Given the description of an element on the screen output the (x, y) to click on. 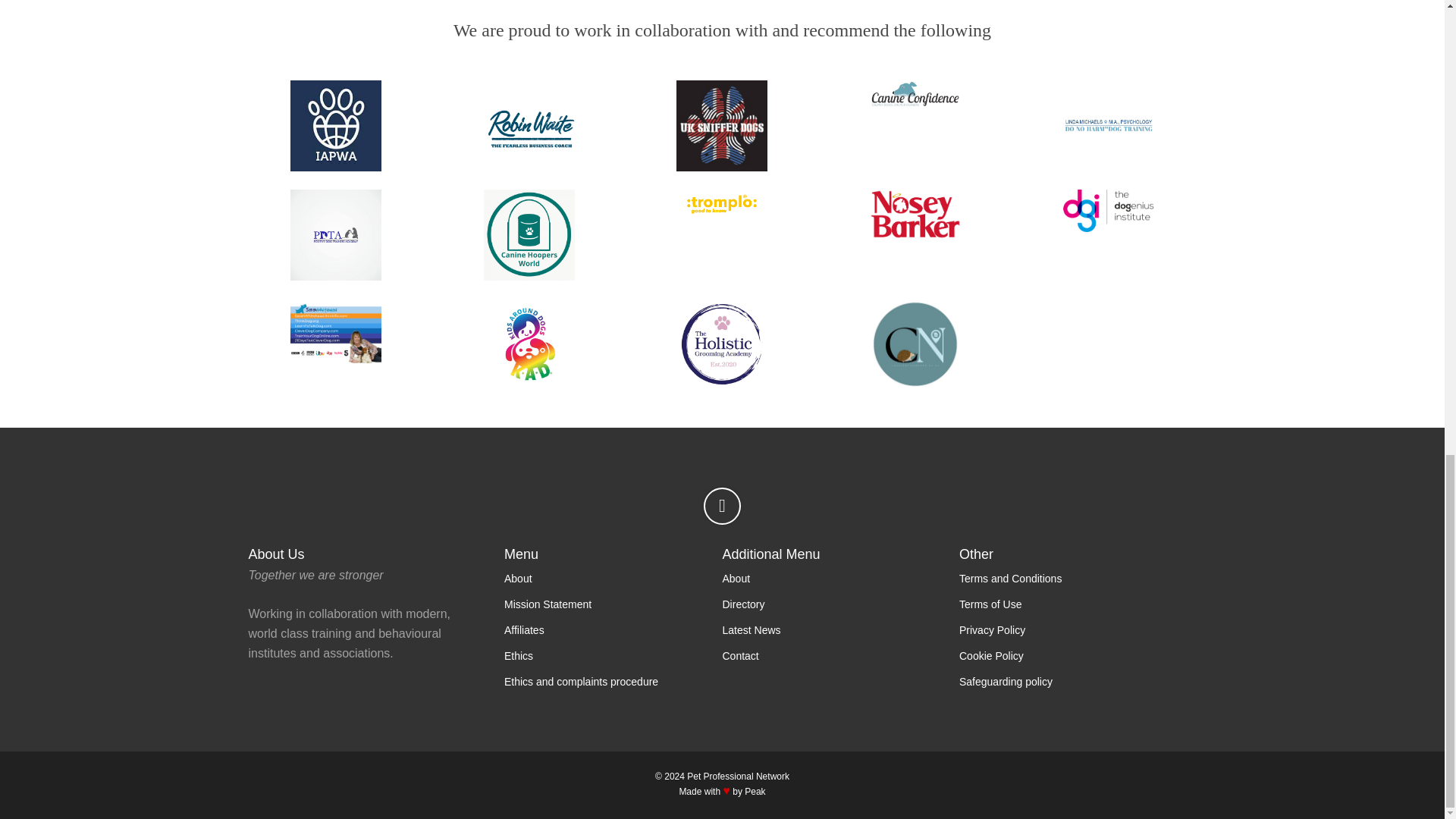
Canine Confidence (915, 93)
Privacy Policy (992, 630)
Latest News (751, 630)
Terms and Conditions (1010, 578)
Safeguarding policy (1005, 681)
Positive Dog Training Academy (335, 234)
Directory (743, 604)
Terms of Use (990, 604)
About (735, 578)
IAPWA (335, 125)
